Given the description of an element on the screen output the (x, y) to click on. 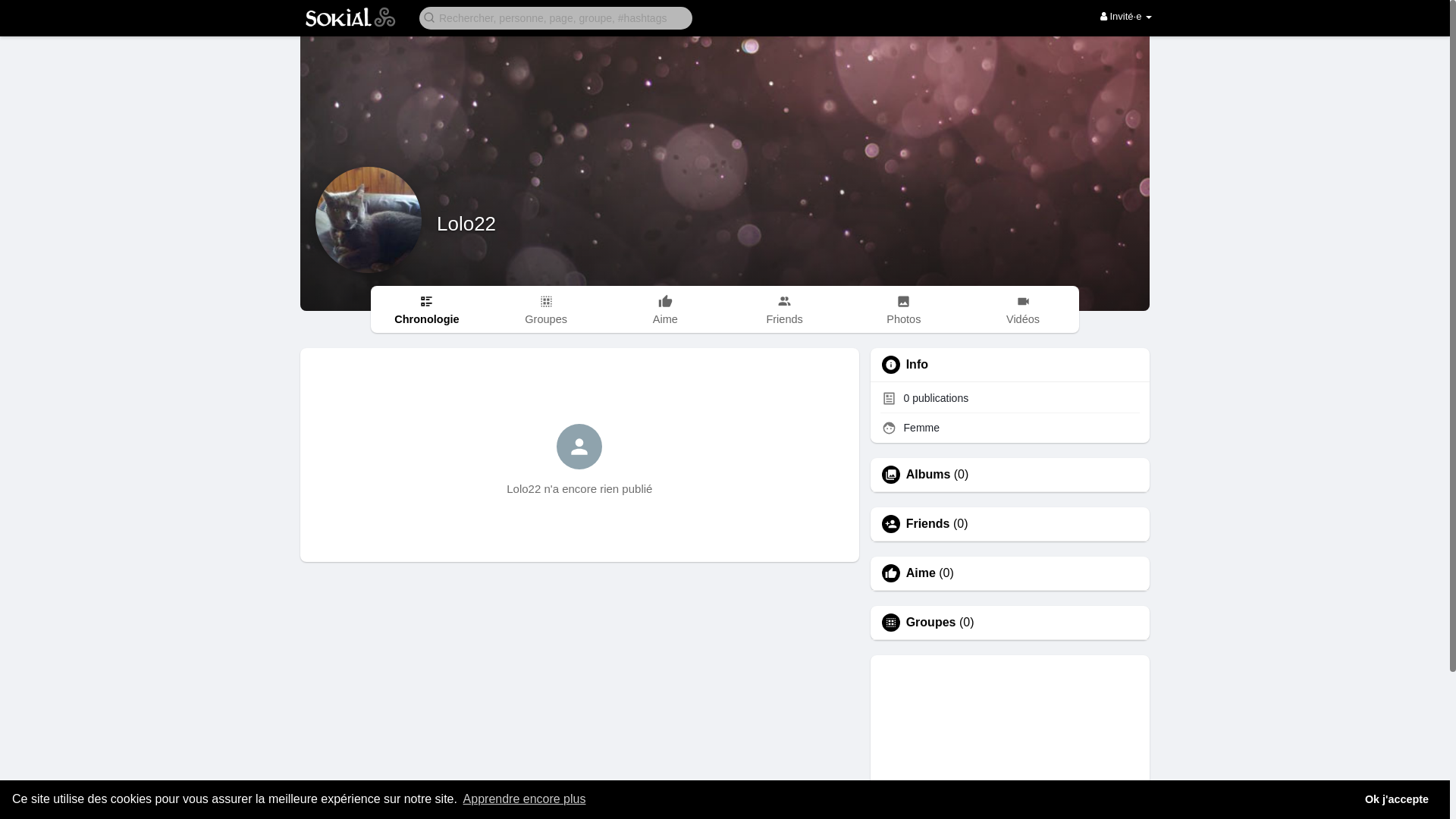
Chronologie Element type: text (426, 308)
Friends Element type: text (928, 523)
Albums Element type: text (928, 474)
Apprendre encore plus Element type: text (523, 798)
Friends Element type: text (784, 308)
Photos Element type: text (903, 308)
Aime Element type: text (920, 573)
Groupes Element type: text (546, 308)
Aime Element type: text (665, 308)
Groupes Element type: text (931, 622)
Lolo22 Element type: text (465, 223)
